Given the description of an element on the screen output the (x, y) to click on. 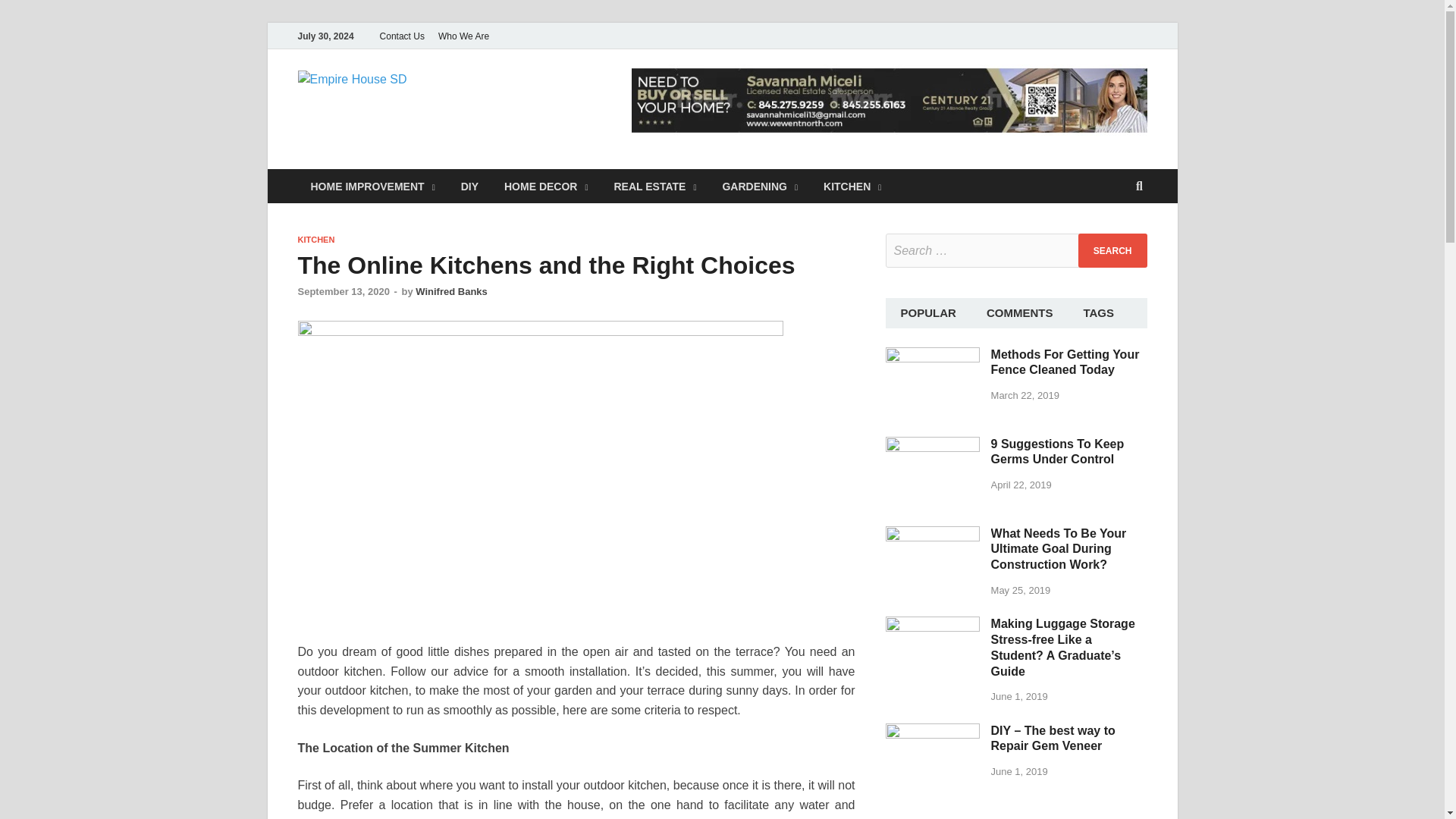
Empire House SD (533, 100)
Search (1112, 250)
HOME DECOR (545, 185)
REAL ESTATE (654, 185)
Contact Us (401, 35)
Methods For Getting Your Fence Cleaned Today (932, 354)
Winifred Banks (450, 291)
KITCHEN (315, 239)
9 Suggestions To Keep Germs Under Control (932, 444)
September 13, 2020 (342, 291)
Who We Are (463, 35)
GARDENING (759, 185)
HOME IMPROVEMENT (371, 185)
KITCHEN (851, 185)
